Given the description of an element on the screen output the (x, y) to click on. 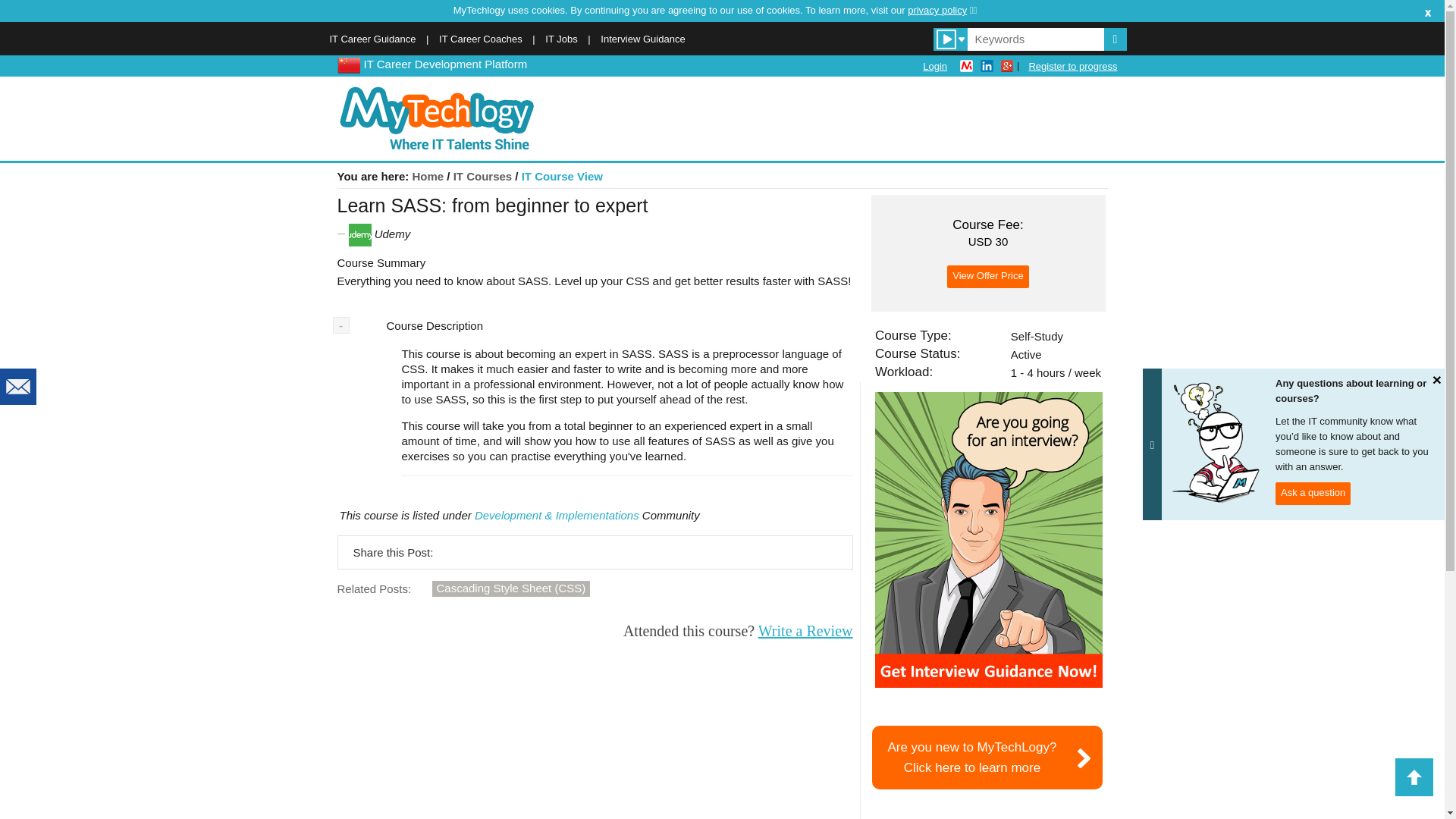
Ask a question (1313, 493)
privacy policy  (941, 9)
Write a Review (987, 757)
IT Career Guidance (805, 630)
Going for an interview? Get Interview Guidance Now (371, 39)
View Offer Price (988, 539)
Register to progress (987, 276)
China (1071, 66)
IT Jobs (347, 63)
IT Courses (560, 39)
Home (482, 175)
IT Career Coaches (428, 175)
Login (480, 39)
View Offer Price (935, 66)
